Given the description of an element on the screen output the (x, y) to click on. 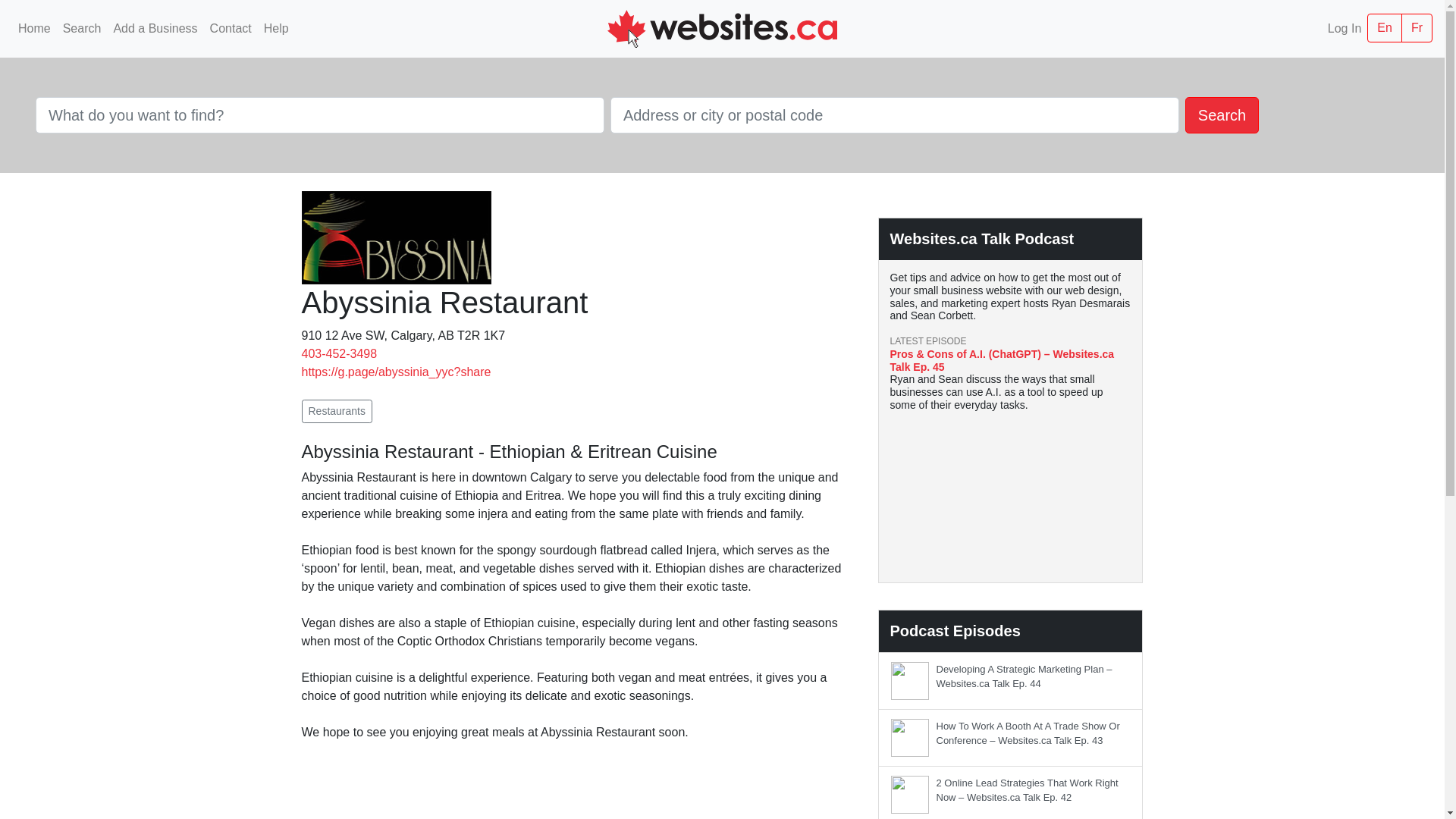
Fr Element type: text (1416, 27)
YouTube video player Element type: hover (1010, 491)
Search Element type: text (1221, 115)
Contact Element type: text (230, 28)
403-452-3498 Element type: text (339, 353)
Add a Business Element type: text (154, 28)
Help Element type: text (275, 28)
Home Element type: text (34, 28)
En Element type: text (1384, 27)
Log In Element type: text (1344, 28)
Websites.ca Talk Podcast Element type: text (982, 238)
https://g.page/abyssinia_yyc?share Element type: text (396, 371)
Search Element type: text (81, 28)
Restaurants Element type: text (336, 410)
Podcast Episodes Element type: text (955, 630)
